Given the description of an element on the screen output the (x, y) to click on. 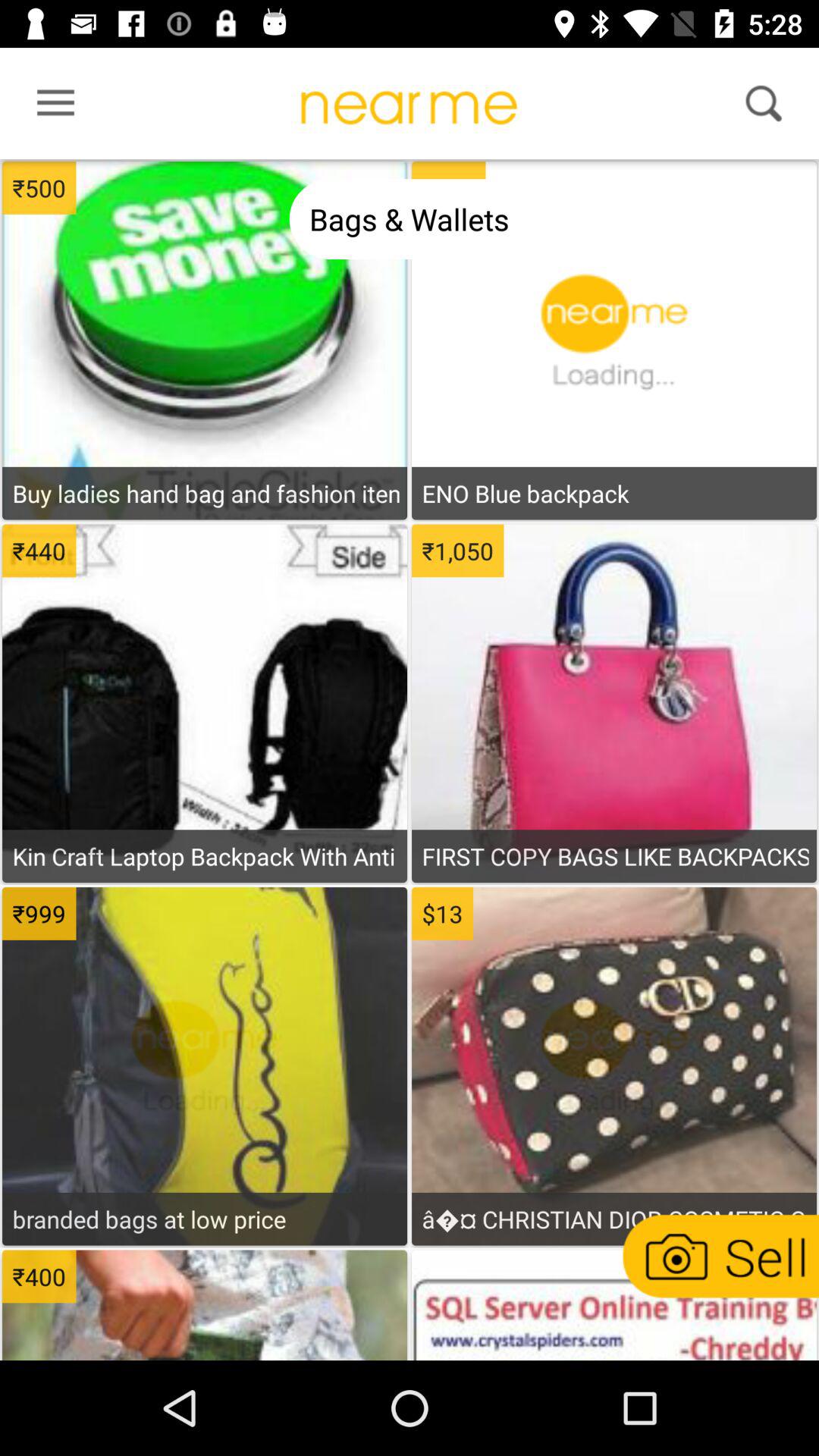
click green save money (205, 273)
